Given the description of an element on the screen output the (x, y) to click on. 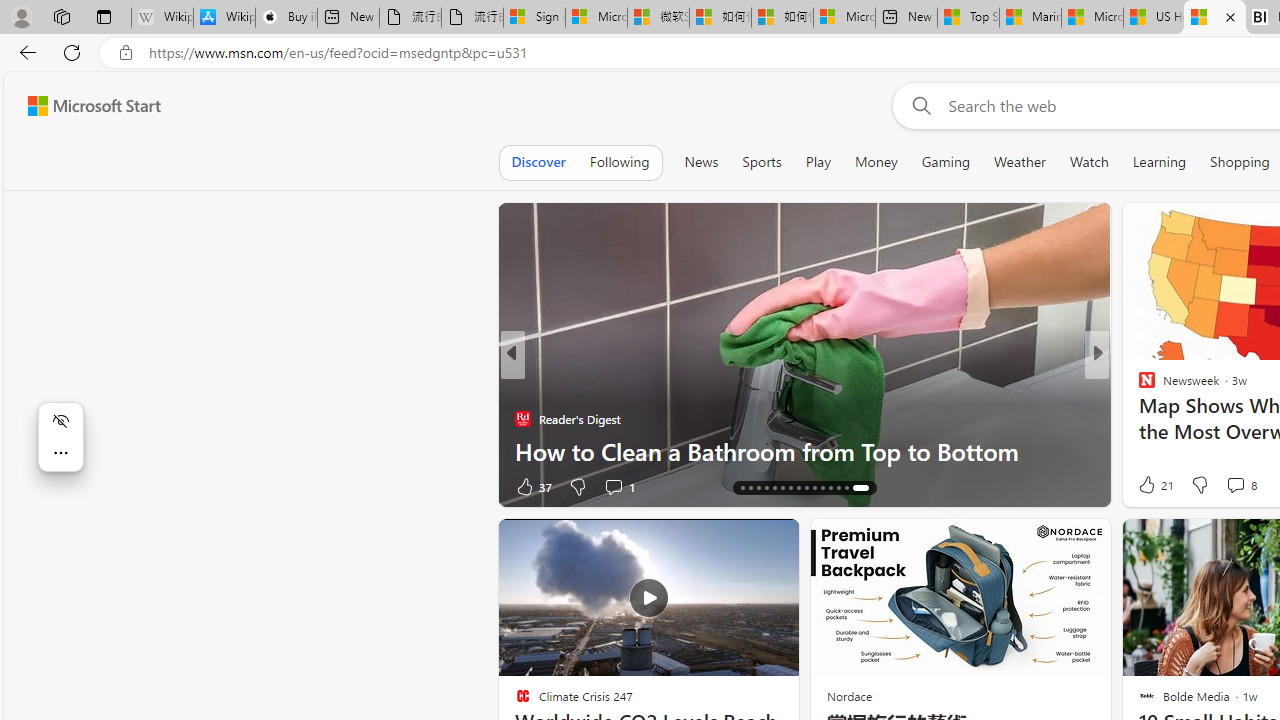
Learning (1159, 162)
Money (876, 162)
21 Like (1154, 484)
SlashGear (1138, 418)
Sports (761, 162)
AutomationID: tab-19 (778, 487)
Play (817, 161)
AutomationID: tab-26 (833, 487)
View comments 3 Comment (1234, 486)
Weather (1020, 161)
View comments 8 Comment (1240, 484)
